Given the description of an element on the screen output the (x, y) to click on. 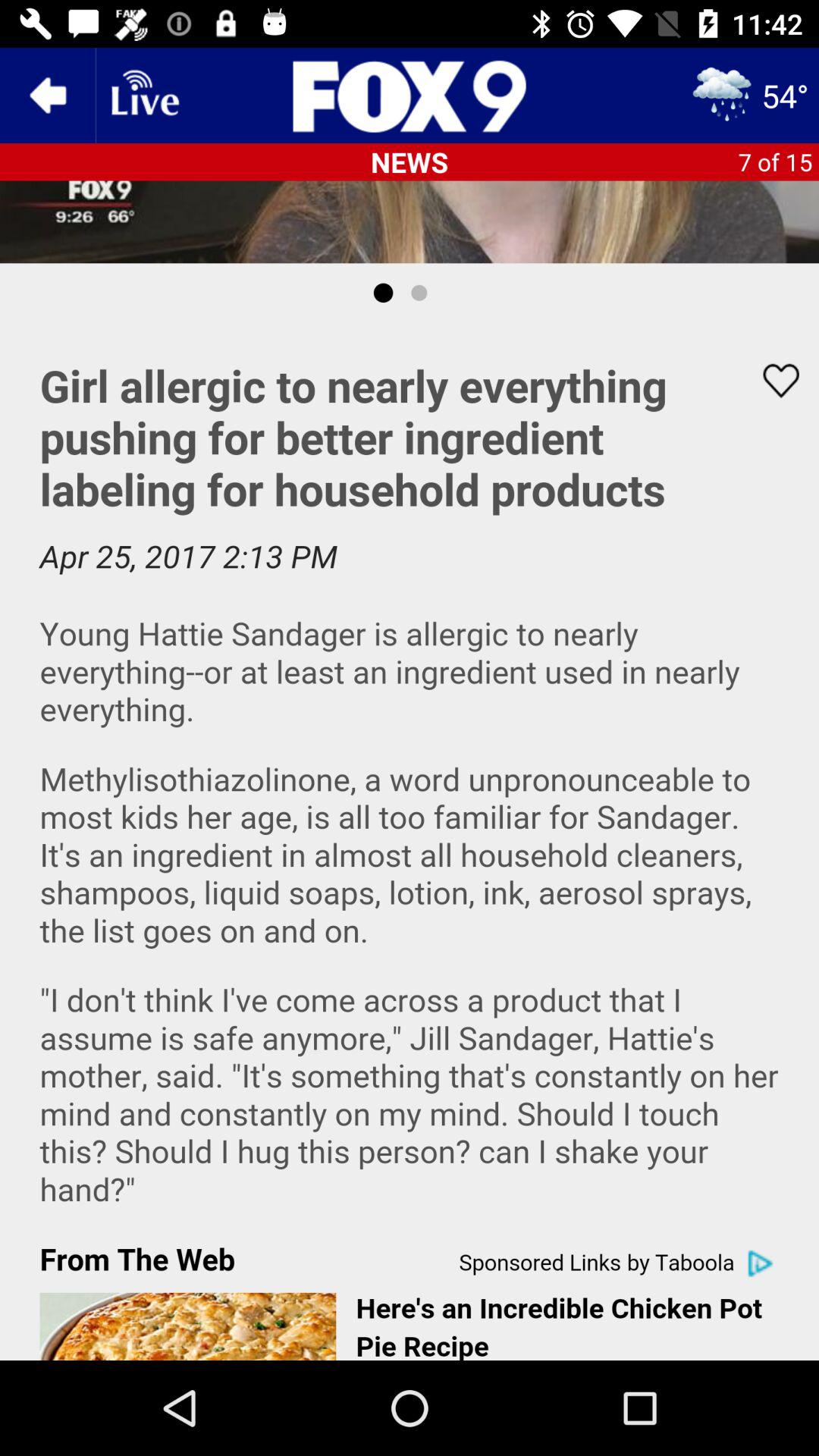
previous page (47, 95)
